Given the description of an element on the screen output the (x, y) to click on. 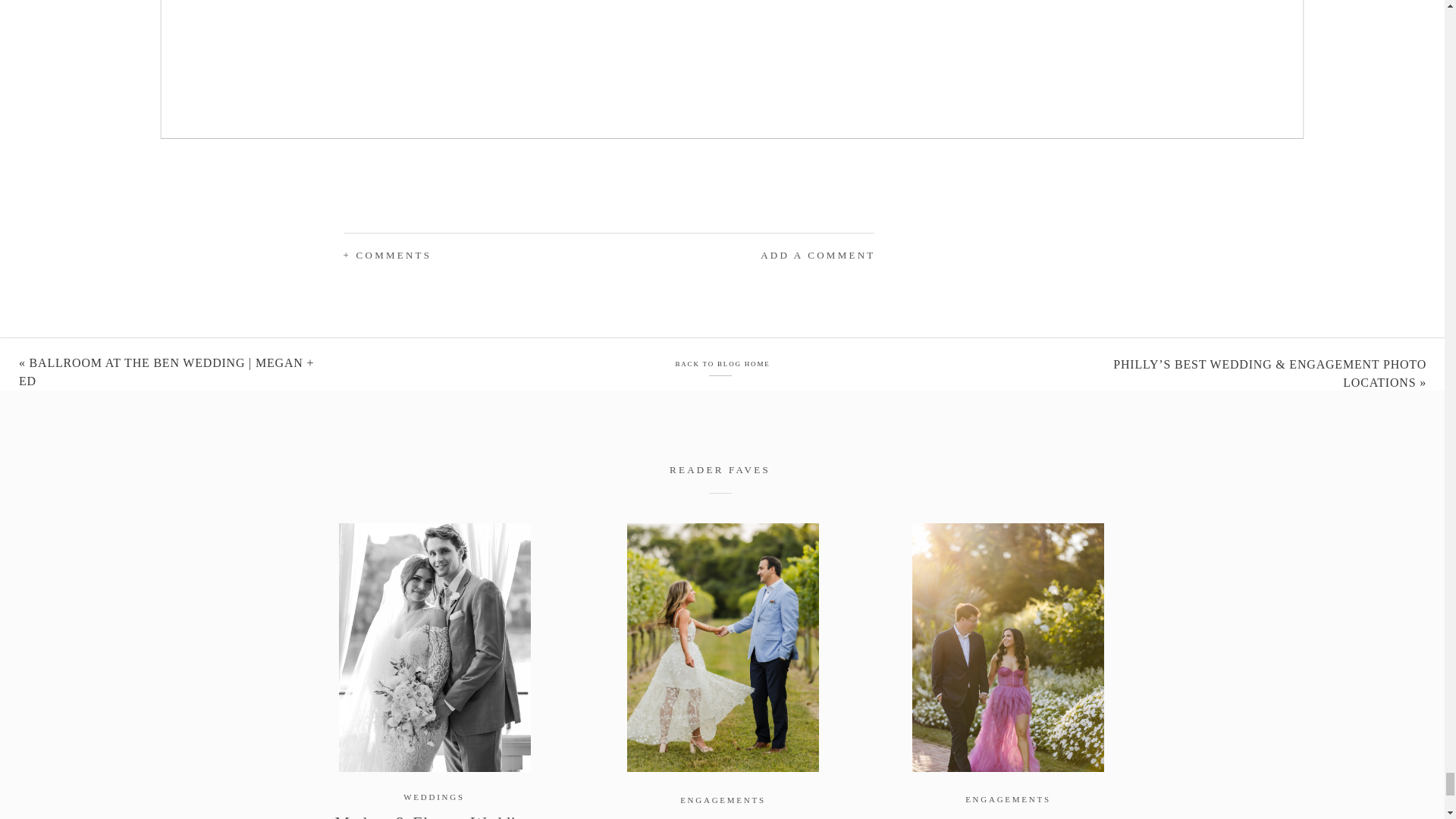
ENGAGEMENTS (722, 799)
BACK TO BLOG HOME (722, 364)
ENGAGEMENTS (1008, 798)
ADD A COMMENT (776, 255)
WEDDINGS (433, 796)
